Given the description of an element on the screen output the (x, y) to click on. 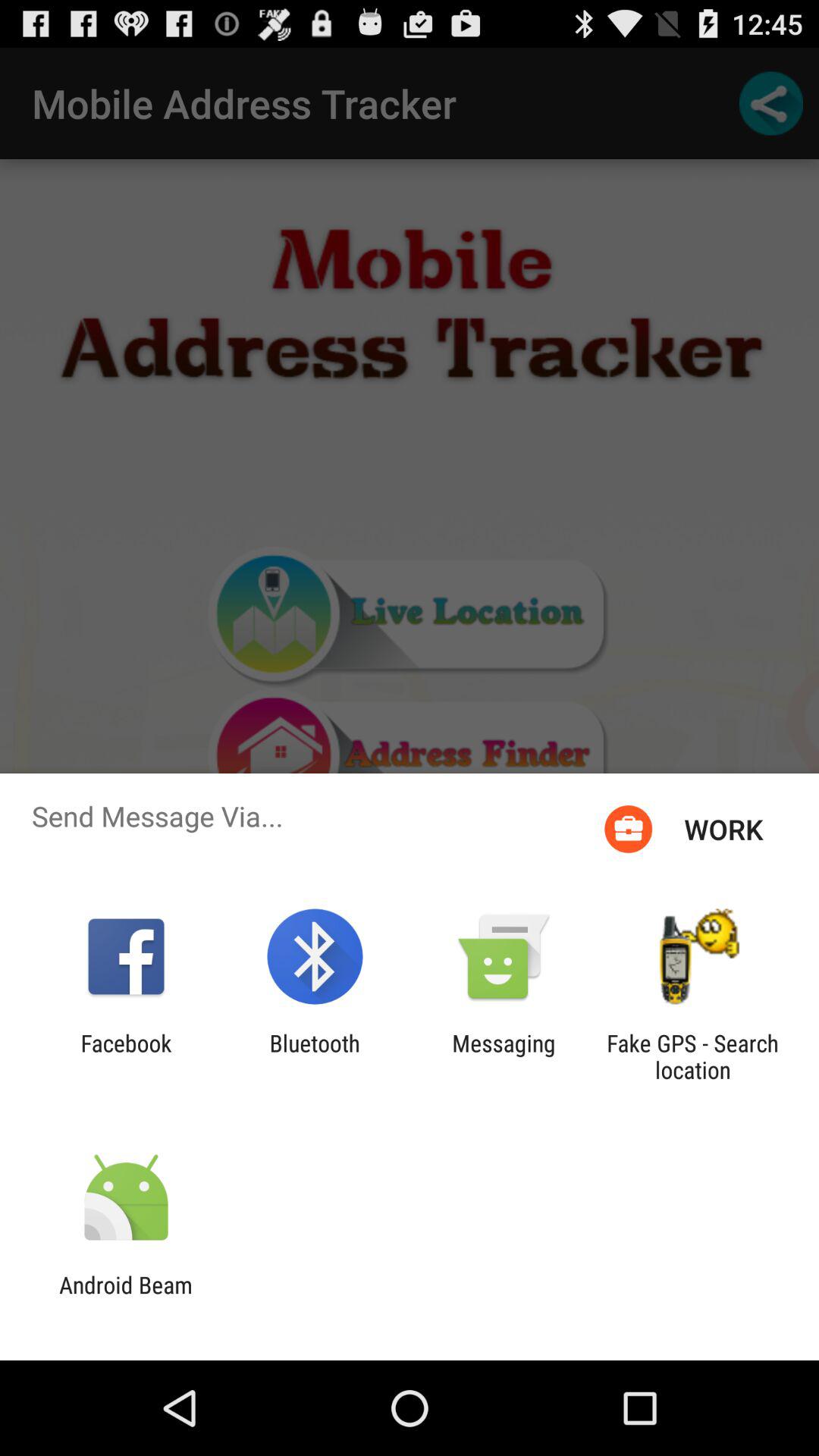
launch app to the left of the bluetooth (125, 1056)
